Given the description of an element on the screen output the (x, y) to click on. 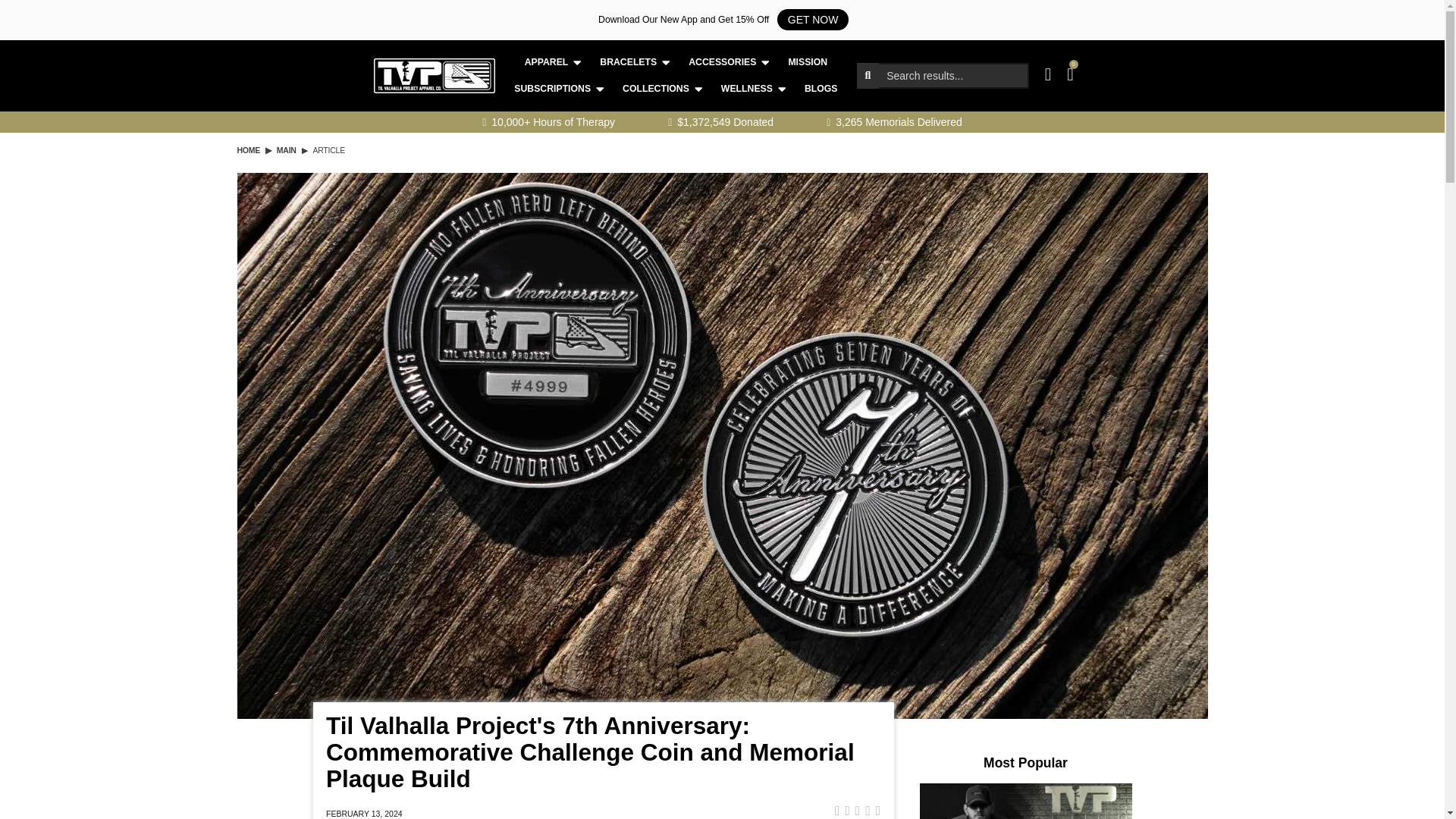
Back to the homepage (247, 151)
GET NOW (812, 19)
